Given the description of an element on the screen output the (x, y) to click on. 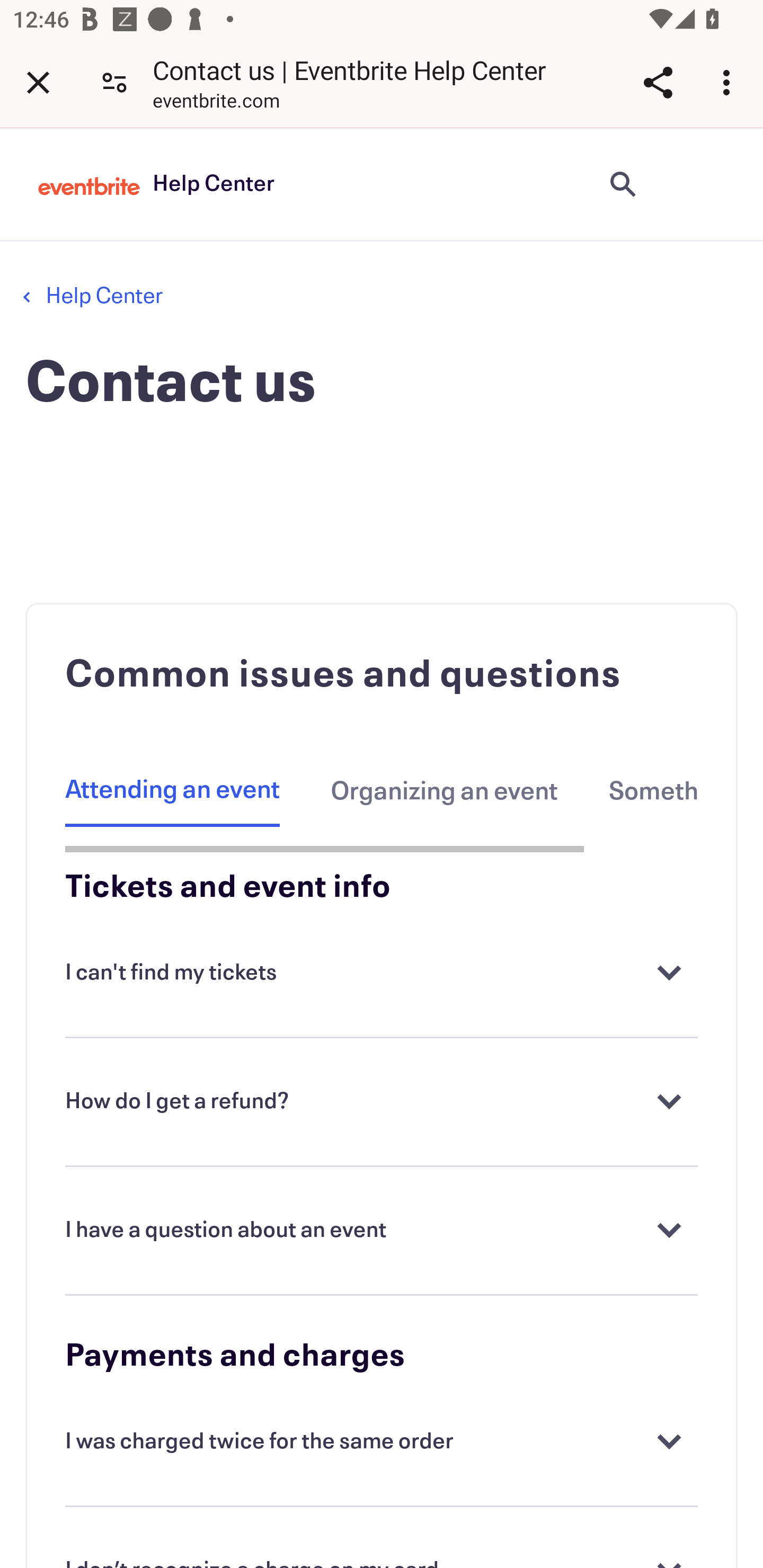
Close tab (38, 82)
Share (657, 82)
Customize and control Google Chrome (729, 82)
Connection is secure (114, 81)
eventbrite.com (216, 103)
Eventbrite Help Center Eventbrite logo Help Center (156, 184)
animation (705, 183)
Attending an event (172, 791)
Organizing an event (443, 791)
Something else (652, 791)
I can't find my tickets (381, 973)
How do I get a refund? (381, 1102)
I have a question about an event (381, 1230)
I was charged twice for the same order (381, 1442)
